Given the description of an element on the screen output the (x, y) to click on. 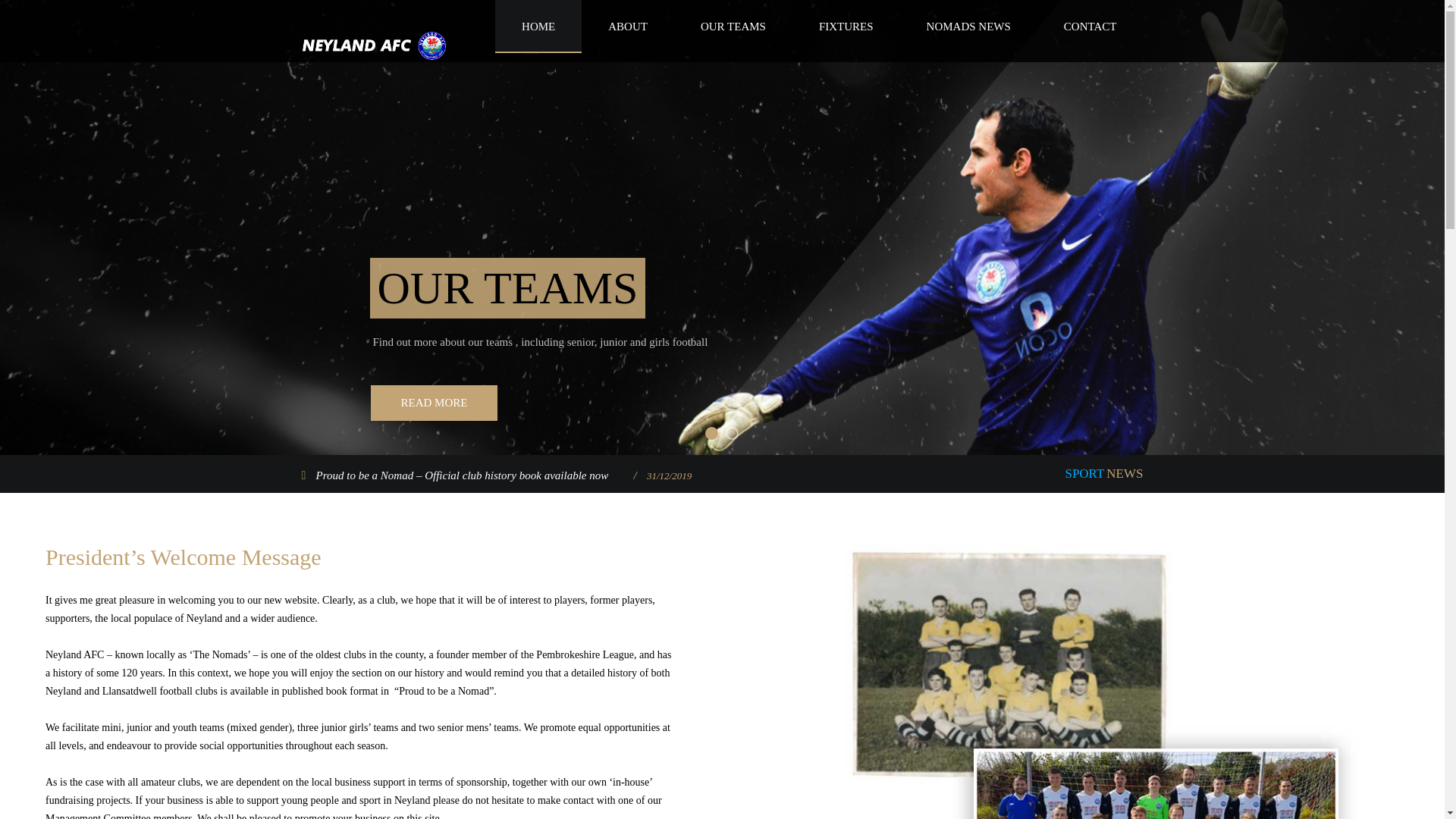
READ MORE (433, 402)
FIXTURES (845, 26)
OUR TEAMS (733, 26)
Home (376, 46)
HOME (537, 26)
ABOUT (627, 26)
NOMADS NEWS (967, 26)
CONTACT (1089, 26)
